Given the description of an element on the screen output the (x, y) to click on. 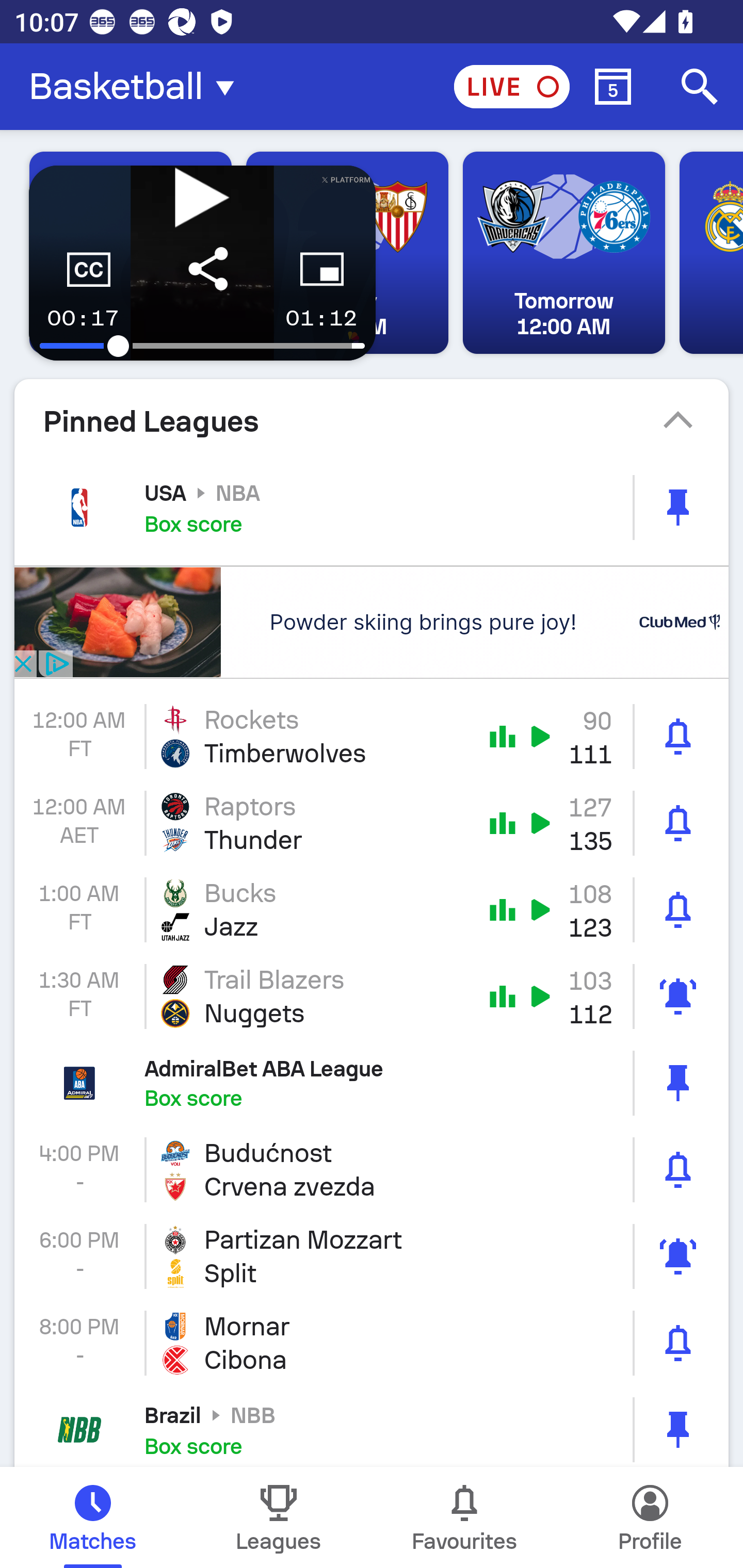
Basketball (137, 86)
Calendar (612, 86)
Search (699, 86)
Tomorrow
12:00 AM (563, 253)
Pinned Leagues (371, 421)
USA NBA Box score (371, 507)
close_button (21, 662)
privacy_small (54, 662)
12:00 AM FT Rockets Timberwolves 111 90 (371, 736)
12:00 AM AET Raptors Thunder 127 135 (371, 823)
1:00 AM FT Bucks Jazz 108 123 (371, 910)
1:30 AM FT Trail Blazers Nuggets 103 112 (371, 996)
AdmiralBet ABA League Box score (371, 1082)
4:00 PM - Budućnost Crvena zvezda (371, 1169)
6:00 PM - Partizan Mozzart Split (371, 1256)
8:00 PM - Mornar Cibona (371, 1342)
Brazil NBB Box score (371, 1426)
Leagues (278, 1517)
Favourites (464, 1517)
Profile (650, 1517)
